Given the description of an element on the screen output the (x, y) to click on. 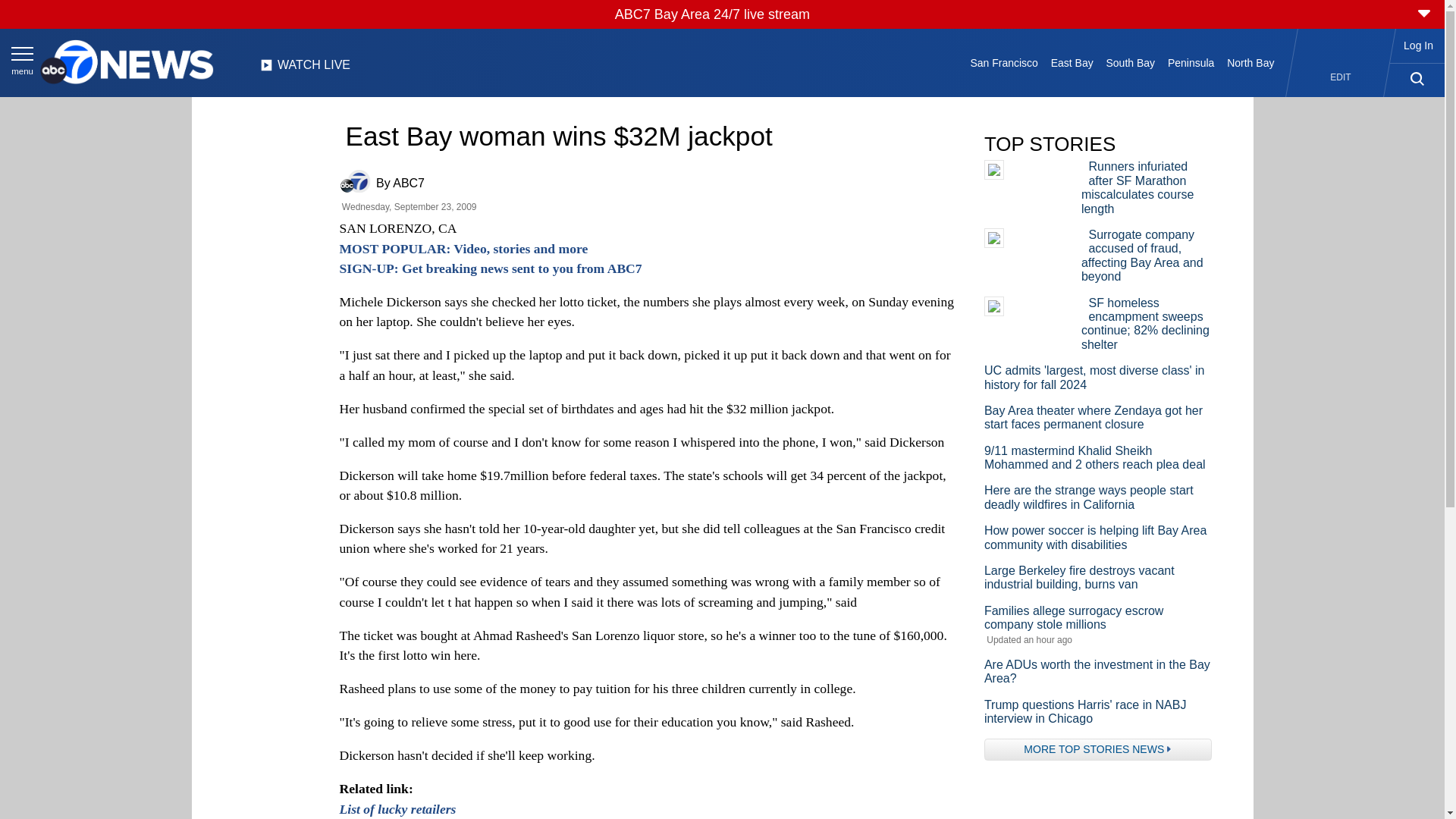
South Bay (1129, 62)
Peninsula (1191, 62)
East Bay (1071, 62)
San Francisco (1003, 62)
EDIT (1340, 77)
North Bay (1251, 62)
WATCH LIVE (305, 69)
